Given the description of an element on the screen output the (x, y) to click on. 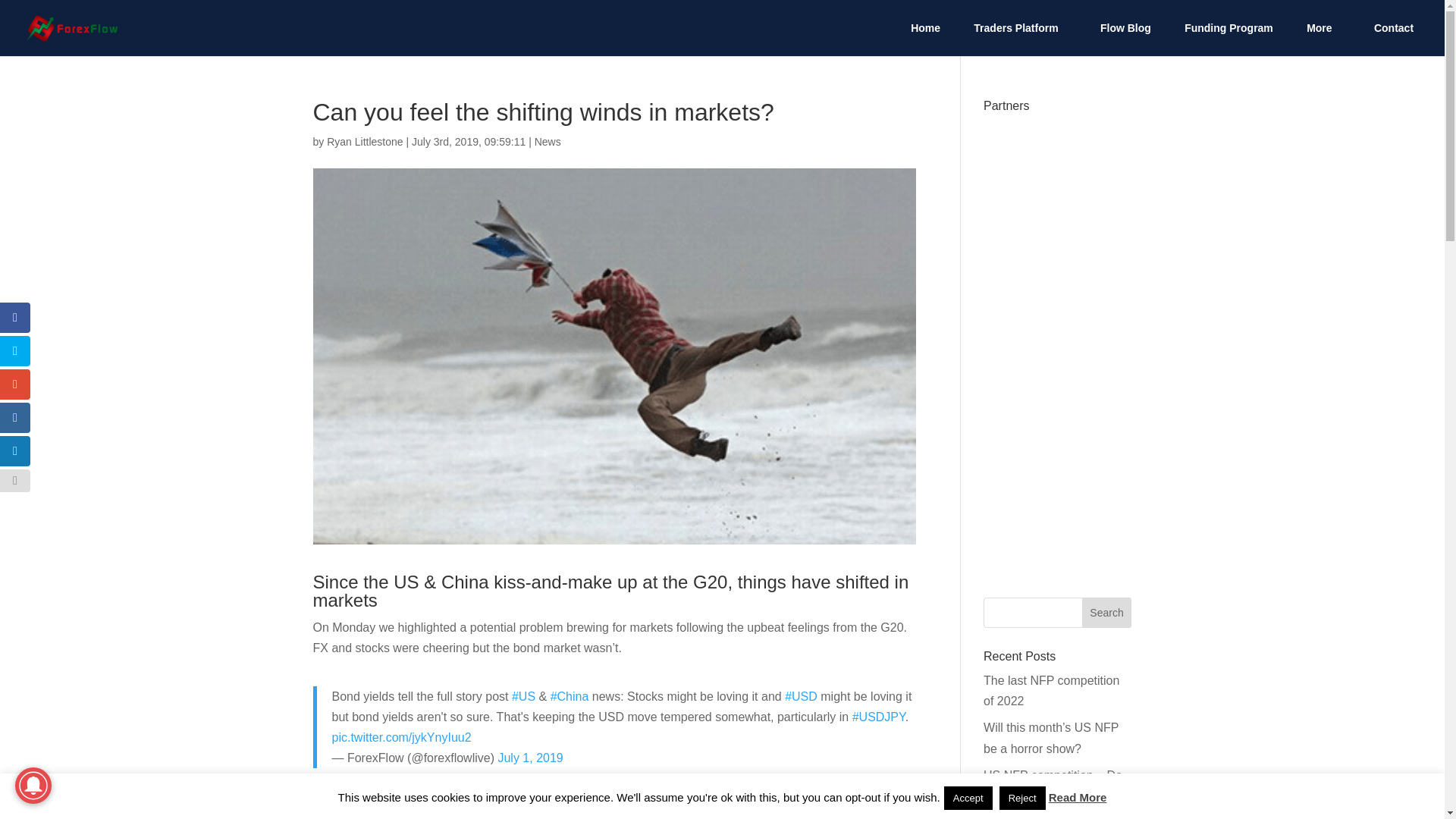
Traders Platform (1019, 39)
Flow Blog (1125, 39)
More (1323, 39)
Funding Program (1228, 39)
Posts by Ryan Littlestone (364, 141)
News (547, 141)
Ryan Littlestone (364, 141)
Search (1106, 612)
Contact (1394, 39)
Home (925, 39)
